Given the description of an element on the screen output the (x, y) to click on. 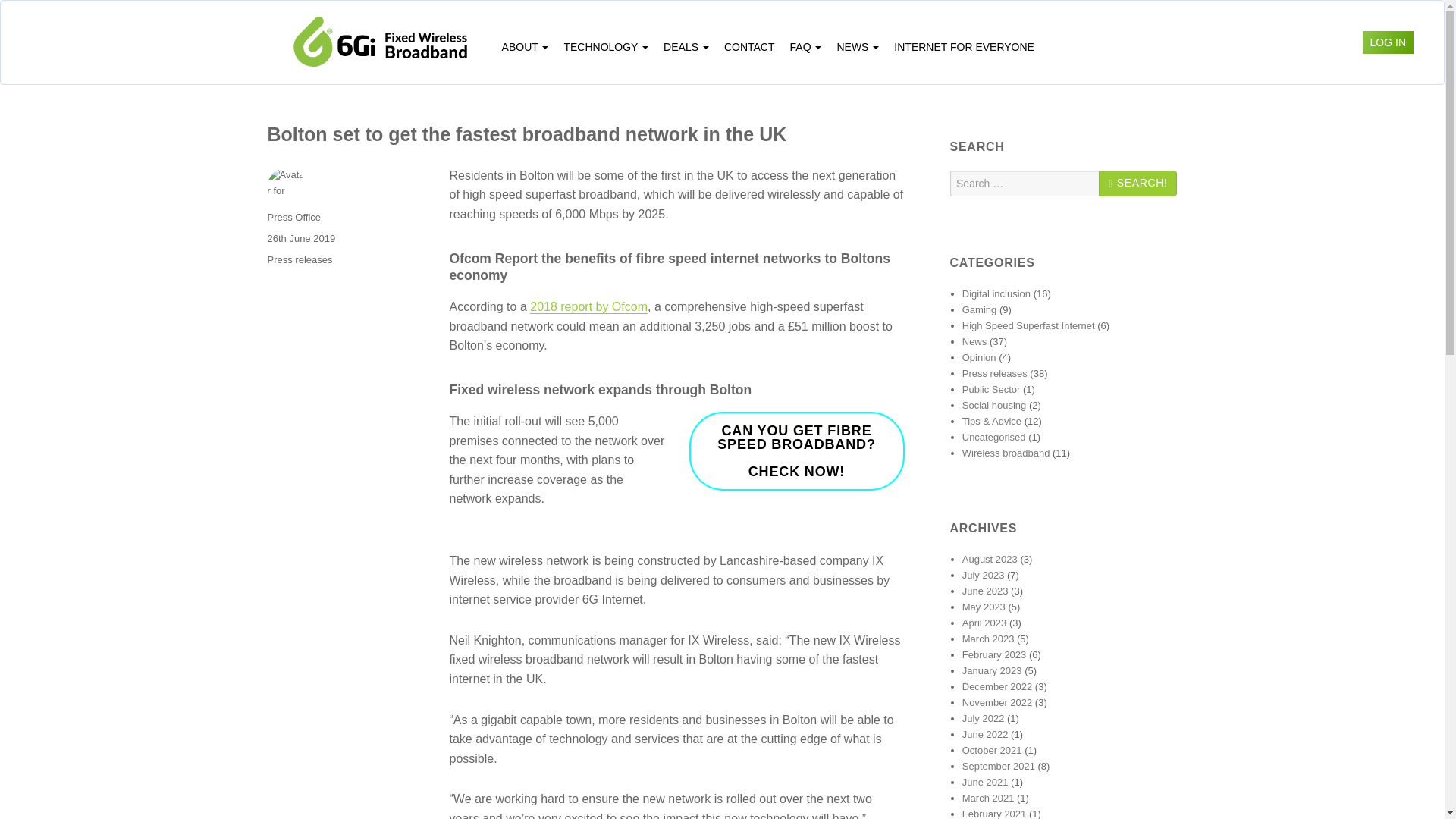
FAQ (796, 450)
Press Office (806, 46)
2018 report by Ofcom (293, 216)
Press releases (588, 306)
Gravatar for Press Office (298, 259)
CONTACT (285, 185)
Gaming (749, 46)
26th June 2019 (979, 309)
SEARCH! (300, 238)
